Given the description of an element on the screen output the (x, y) to click on. 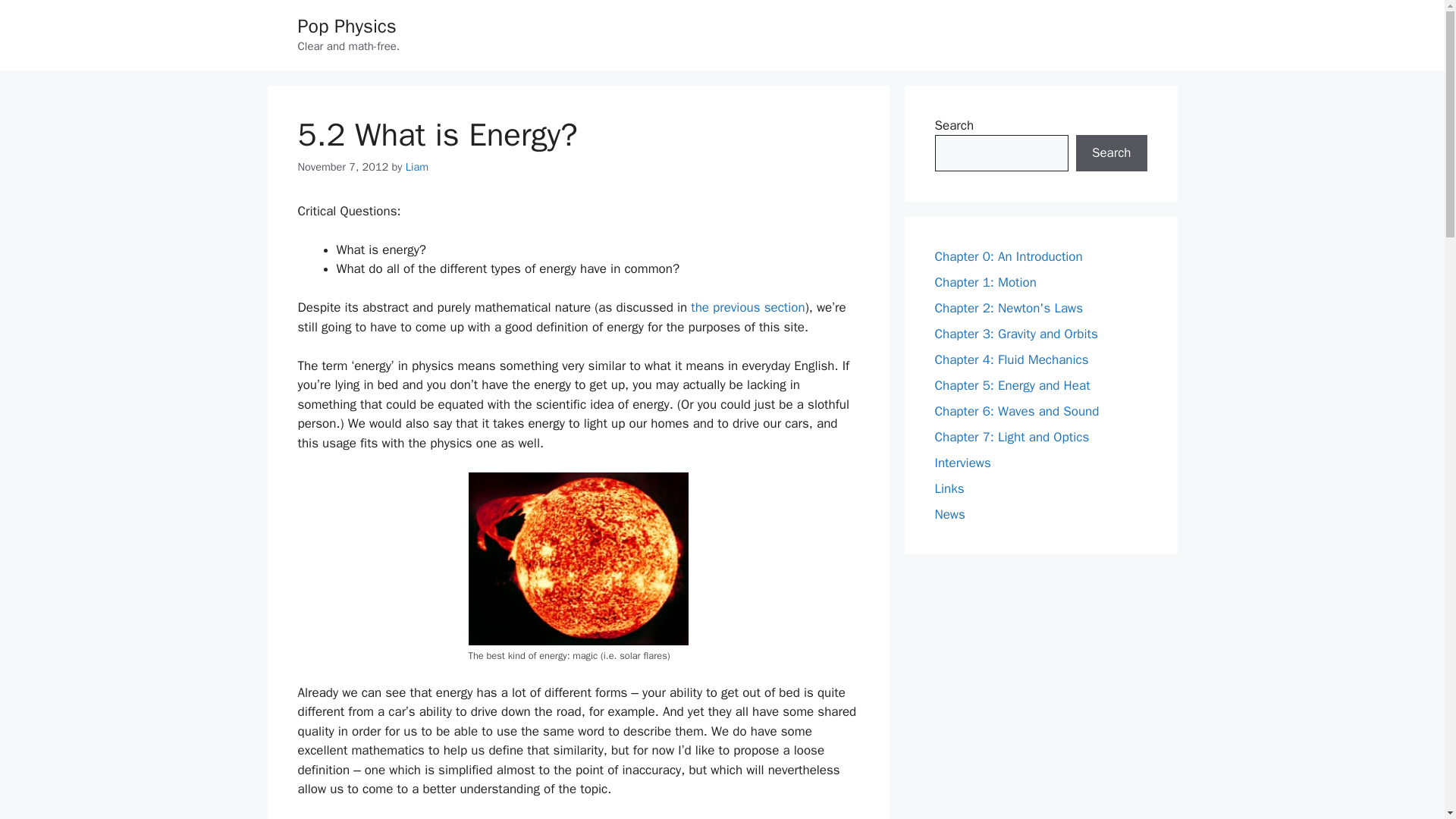
Chapter 2: Newton's Laws (1008, 308)
News (948, 514)
Pop Physics (346, 25)
Liam (417, 166)
Search (1111, 153)
Chapter 7: Light and Optics (1011, 437)
Chapter 6: Waves and Sound (1016, 411)
View all posts by Liam (417, 166)
Chapter 3: Gravity and Orbits (1015, 333)
Chapter 4: Fluid Mechanics (1010, 359)
Links (948, 488)
Interviews (962, 462)
Chapter 1: Motion (984, 282)
5.1 Introduction to Energy and Heat (747, 307)
Chapter 5: Energy and Heat (1011, 385)
